Given the description of an element on the screen output the (x, y) to click on. 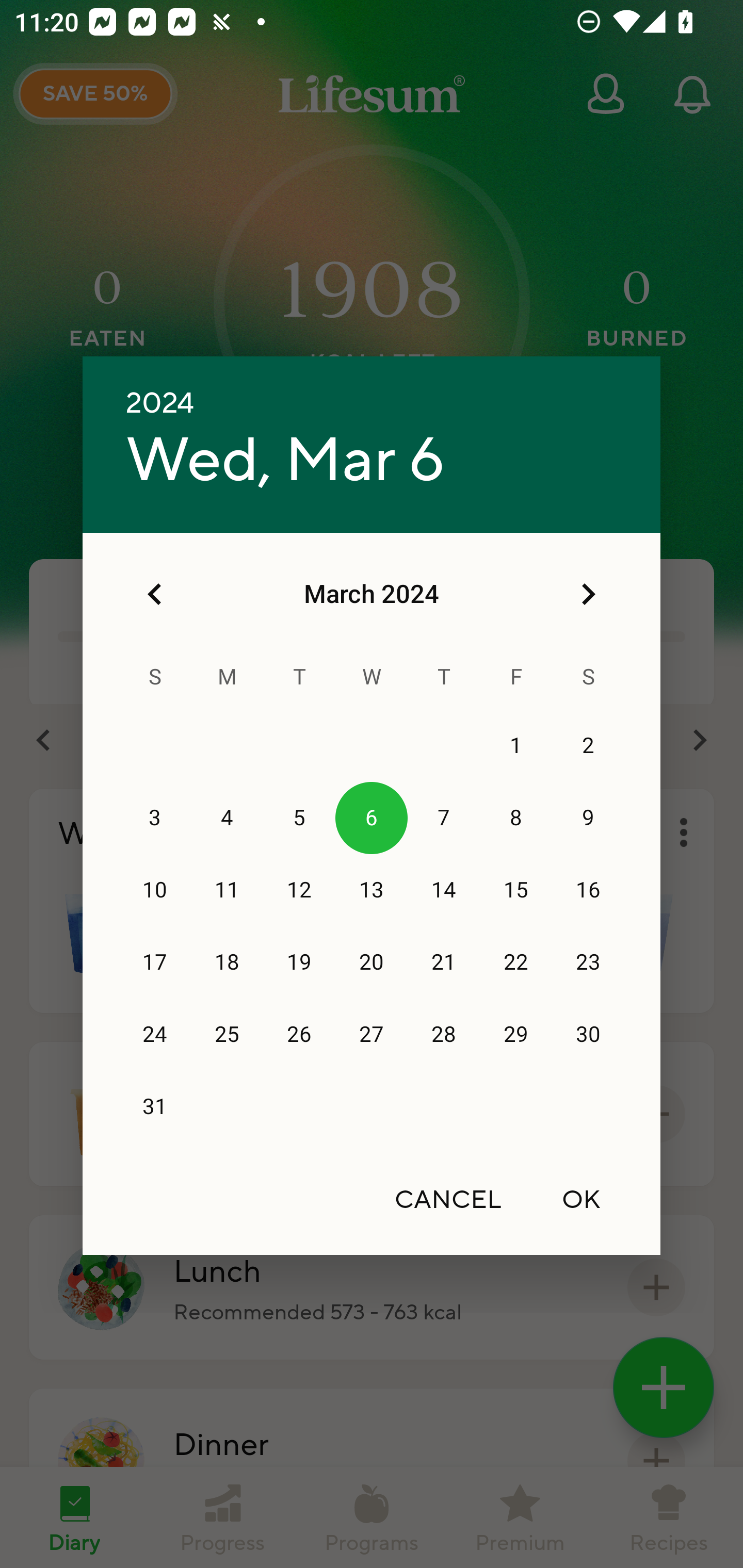
2024 (159, 403)
Wed, Mar 6 (285, 460)
Previous month (154, 594)
Next month (587, 594)
1 01 March 2024 (515, 746)
2 02 March 2024 (588, 746)
3 03 March 2024 (154, 818)
4 04 March 2024 (226, 818)
5 05 March 2024 (299, 818)
6 06 March 2024 (371, 818)
7 07 March 2024 (443, 818)
8 08 March 2024 (515, 818)
9 09 March 2024 (588, 818)
10 10 March 2024 (154, 890)
11 11 March 2024 (226, 890)
12 12 March 2024 (299, 890)
13 13 March 2024 (371, 890)
14 14 March 2024 (443, 890)
15 15 March 2024 (515, 890)
16 16 March 2024 (588, 890)
17 17 March 2024 (154, 962)
18 18 March 2024 (226, 962)
19 19 March 2024 (299, 962)
20 20 March 2024 (371, 962)
21 21 March 2024 (443, 962)
22 22 March 2024 (515, 962)
23 23 March 2024 (588, 962)
24 24 March 2024 (154, 1034)
25 25 March 2024 (226, 1034)
26 26 March 2024 (299, 1034)
27 27 March 2024 (371, 1034)
28 28 March 2024 (443, 1034)
29 29 March 2024 (515, 1034)
30 30 March 2024 (588, 1034)
31 31 March 2024 (154, 1106)
CANCEL (447, 1199)
OK (580, 1199)
